Given the description of an element on the screen output the (x, y) to click on. 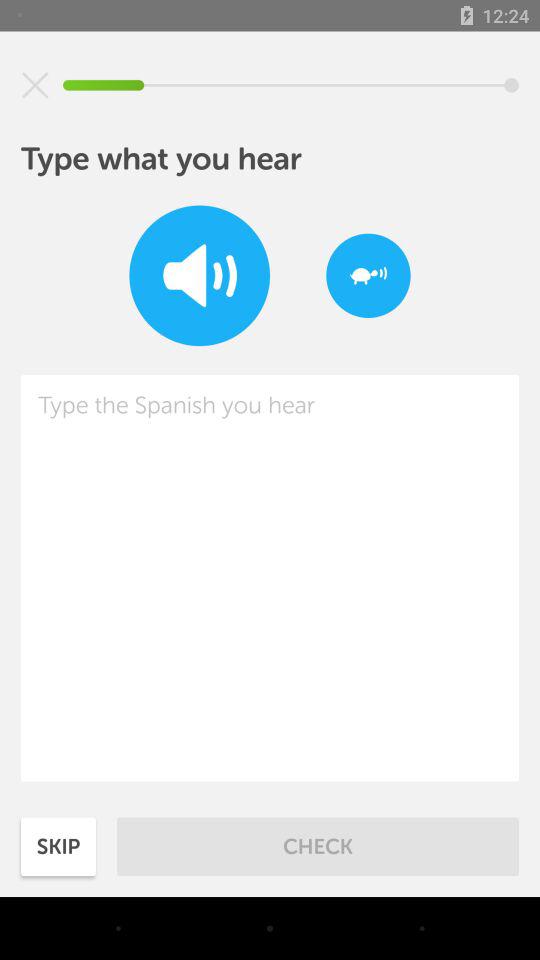
click the skip at the bottom left corner (58, 846)
